Given the description of an element on the screen output the (x, y) to click on. 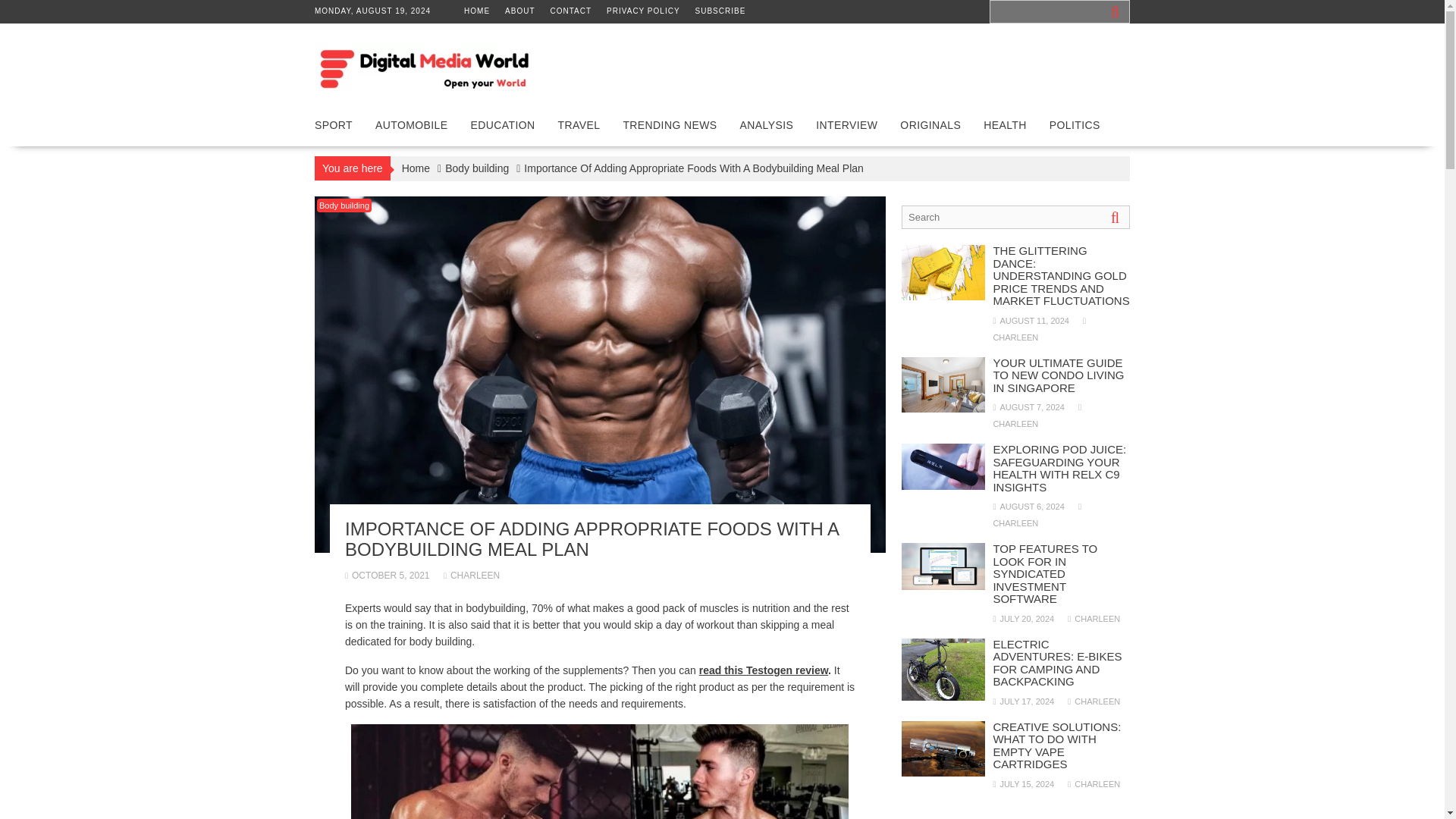
Home (415, 167)
SPORT (333, 125)
POLITICS (1075, 125)
CHARLEEN (471, 575)
EDUCATION (503, 125)
Body building (476, 167)
Body building (344, 205)
OCTOBER 5, 2021 (387, 575)
AUTOMOBILE (412, 125)
SUBSCRIBE (720, 10)
